Given the description of an element on the screen output the (x, y) to click on. 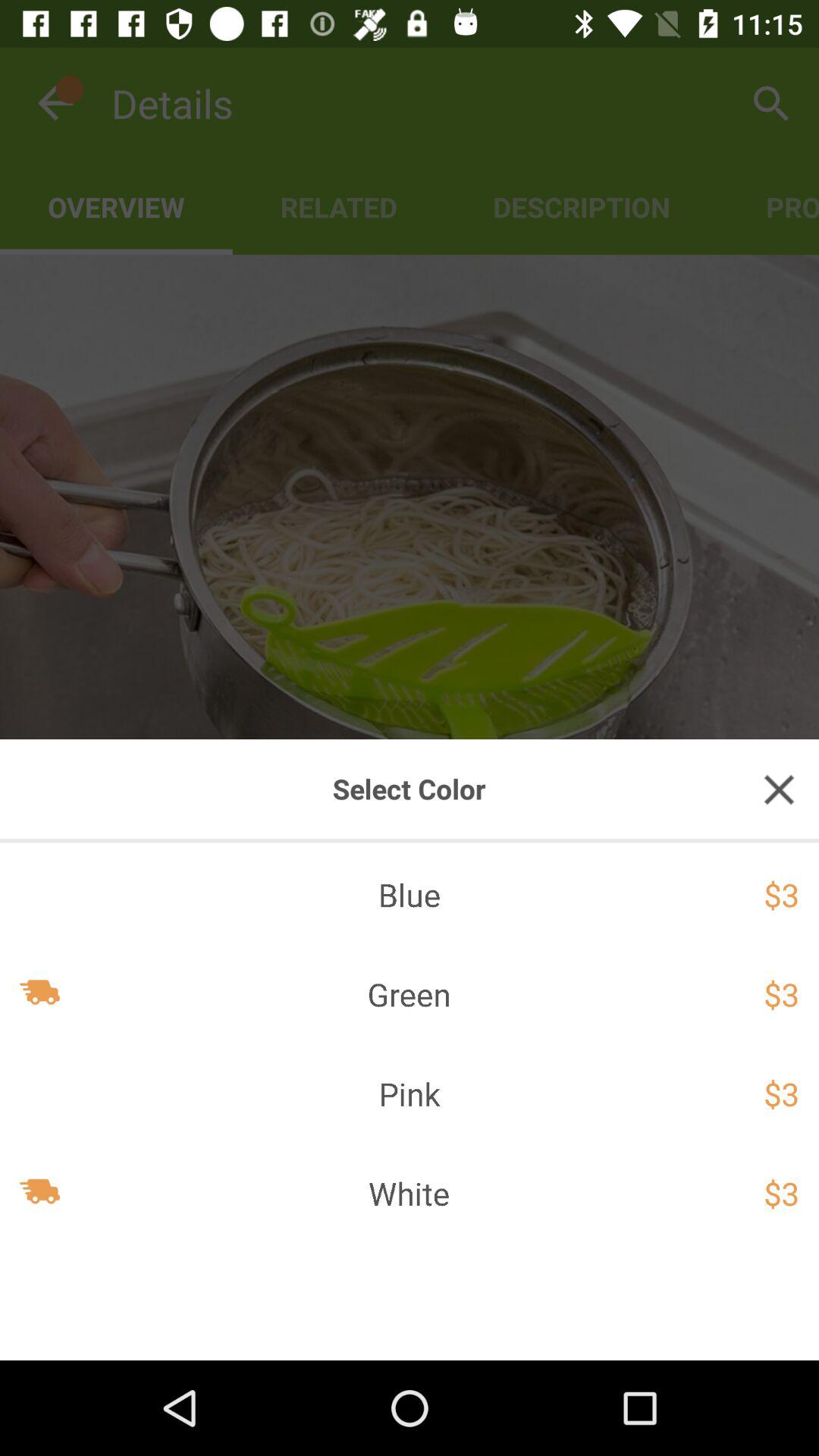
close (779, 788)
